Given the description of an element on the screen output the (x, y) to click on. 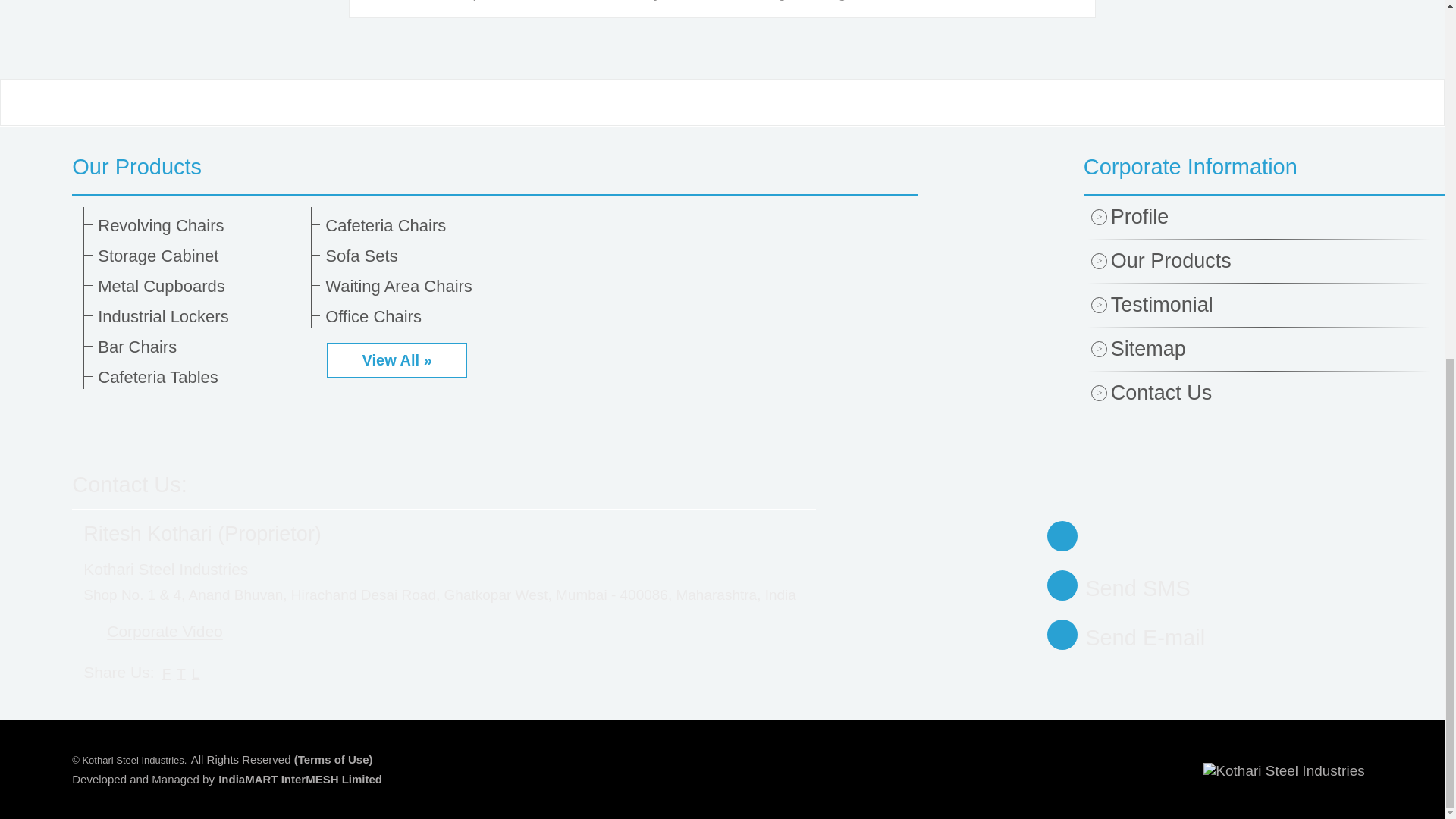
Our Products (494, 167)
Storage Cabinet (198, 256)
Office Chairs (426, 316)
Cafeteria Chairs (426, 226)
Revolving Chairs (198, 226)
Contact Us: (129, 484)
T (181, 673)
Cafeteria Tables (198, 377)
Waiting Area Chairs (426, 286)
Metal Cupboards (198, 286)
Corporate Video (152, 630)
L (196, 673)
Bar Chairs (198, 347)
Industrial Lockers (198, 316)
F (166, 673)
